Given the description of an element on the screen output the (x, y) to click on. 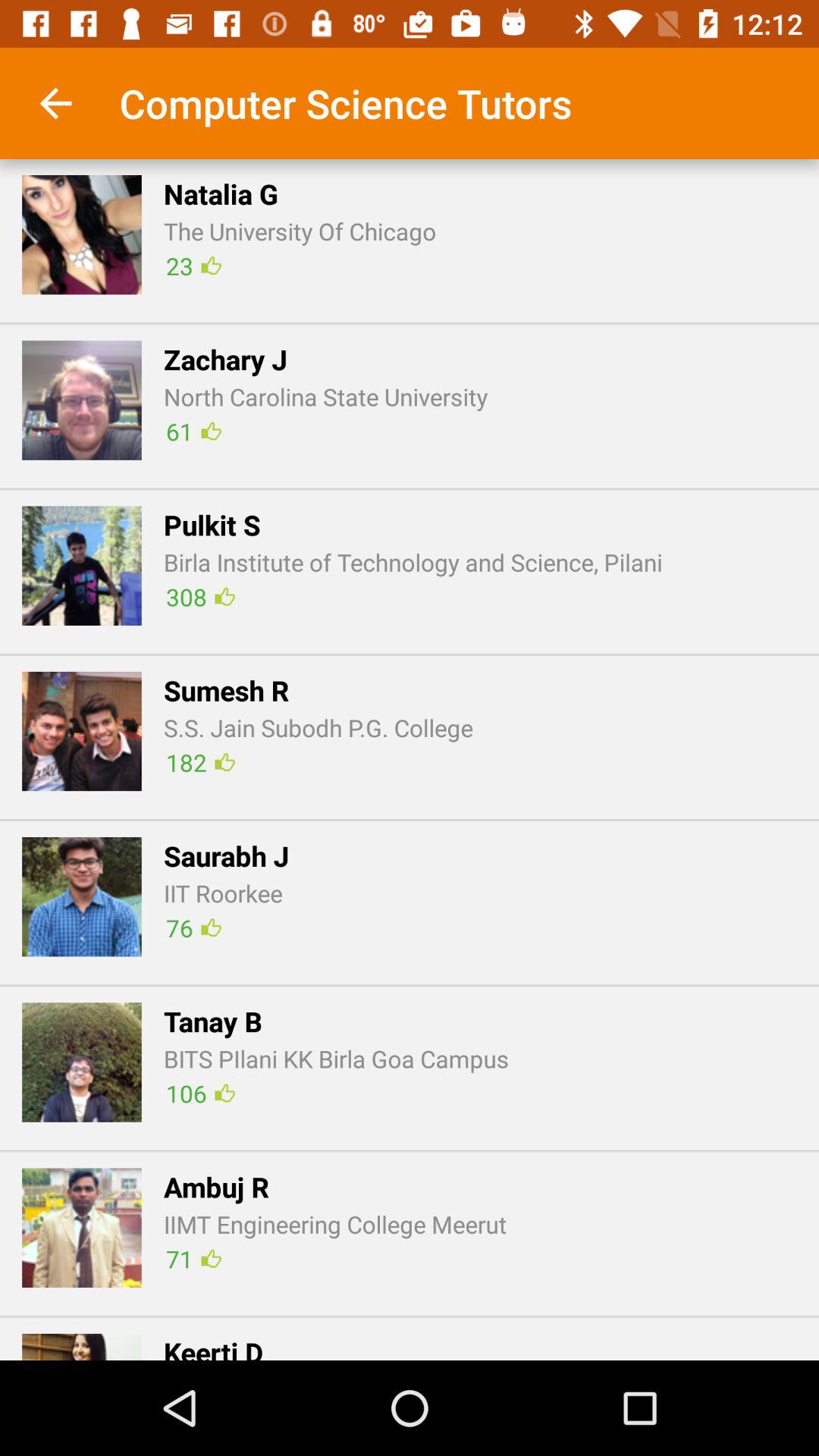
click icon above the n icon (55, 103)
